Given the description of an element on the screen output the (x, y) to click on. 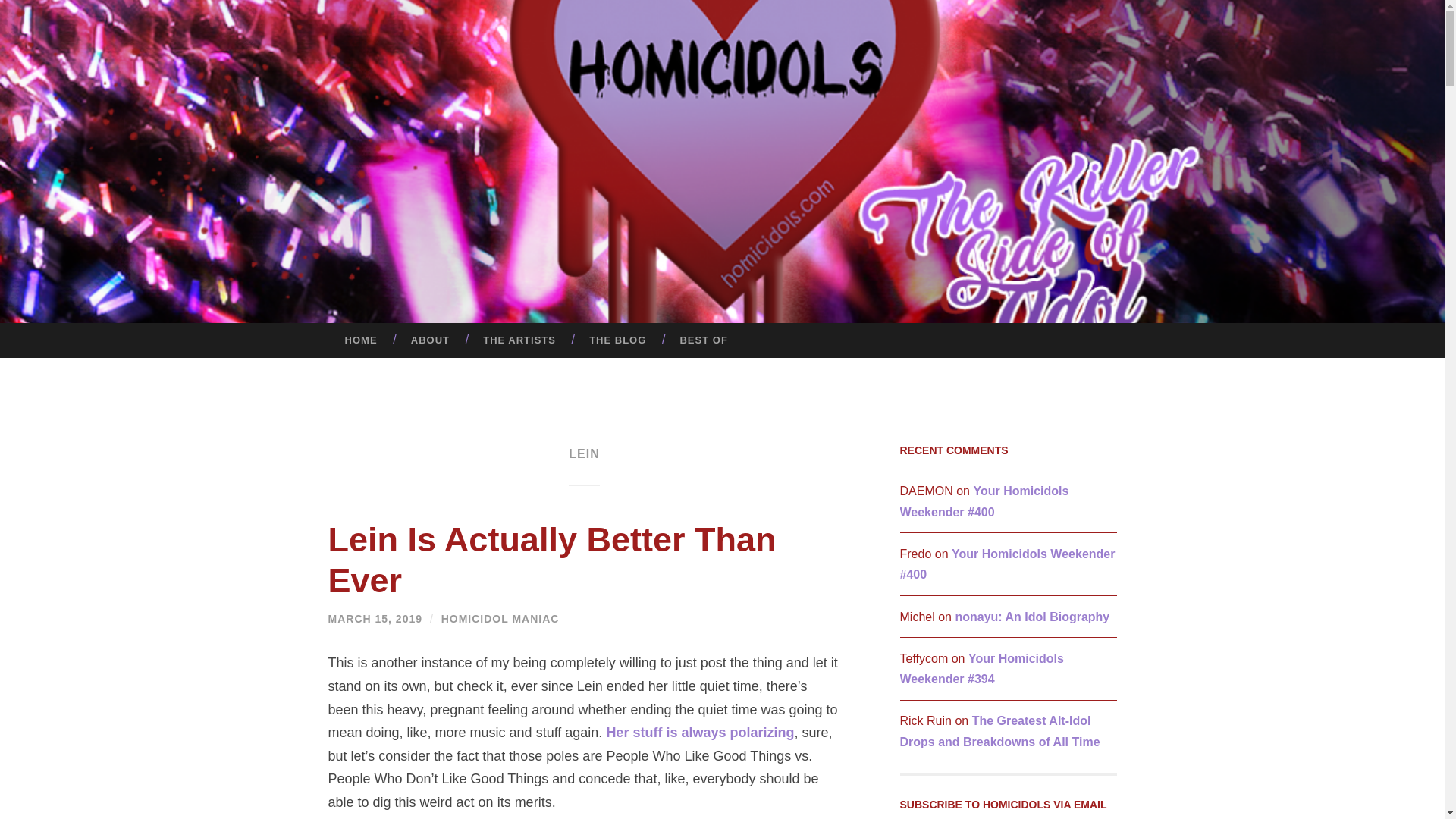
MARCH 15, 2019 (374, 618)
Her stuff is always polarizing (699, 732)
ABOUT (429, 339)
HOMICIDOL MANIAC (500, 618)
BEST OF (703, 339)
THE BLOG (617, 339)
SKIP TO CONTENT (16, 334)
Lein Is Actually Better Than Ever (551, 559)
HOME (360, 339)
THE ARTISTS (518, 339)
HOMICIDOLS (833, 186)
